Given the description of an element on the screen output the (x, y) to click on. 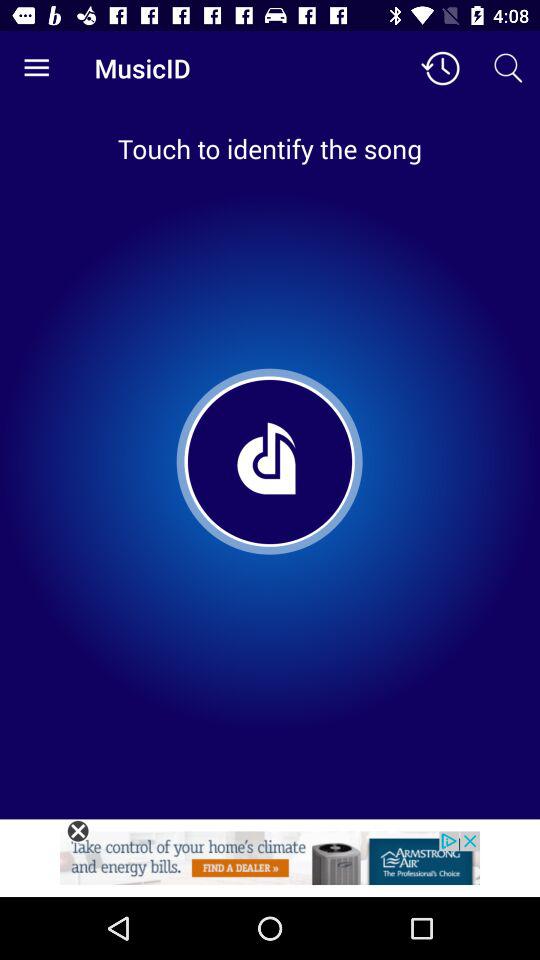
web add (270, 864)
